Given the description of an element on the screen output the (x, y) to click on. 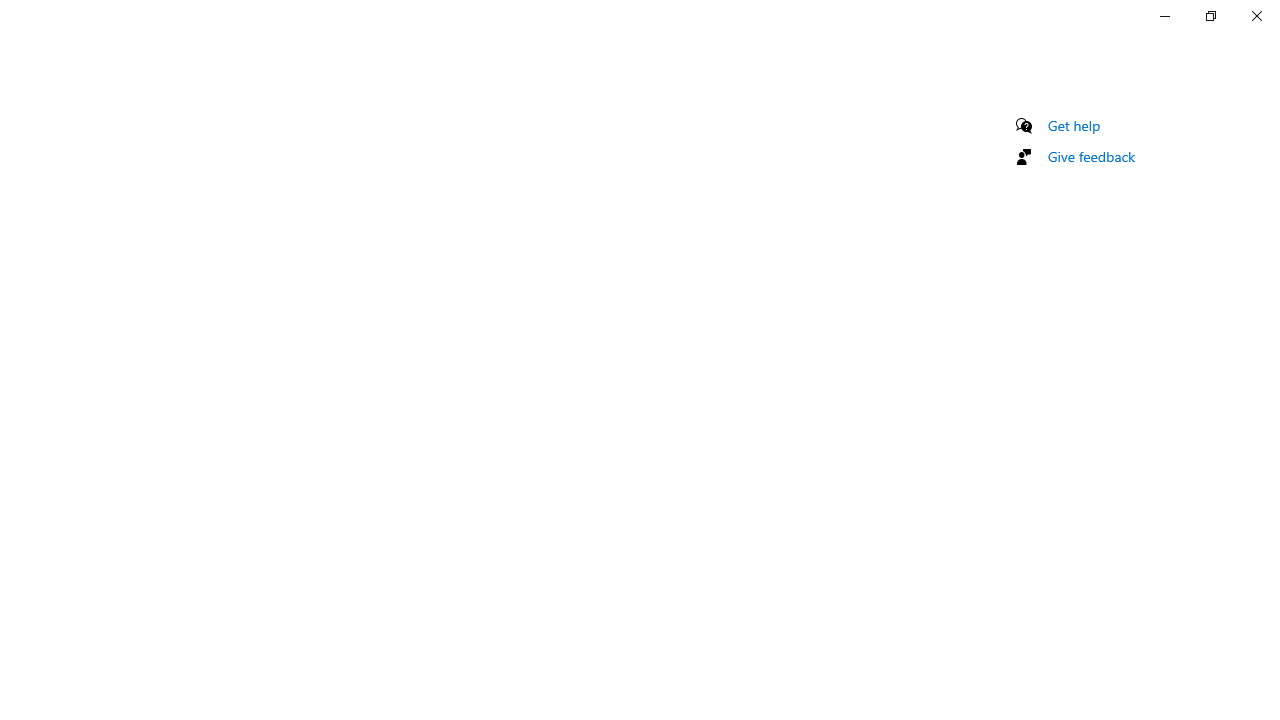
Restore Settings (1210, 15)
Minimize Settings (1164, 15)
Close Settings (1256, 15)
Get help (1074, 125)
Give feedback (1091, 156)
